Given the description of an element on the screen output the (x, y) to click on. 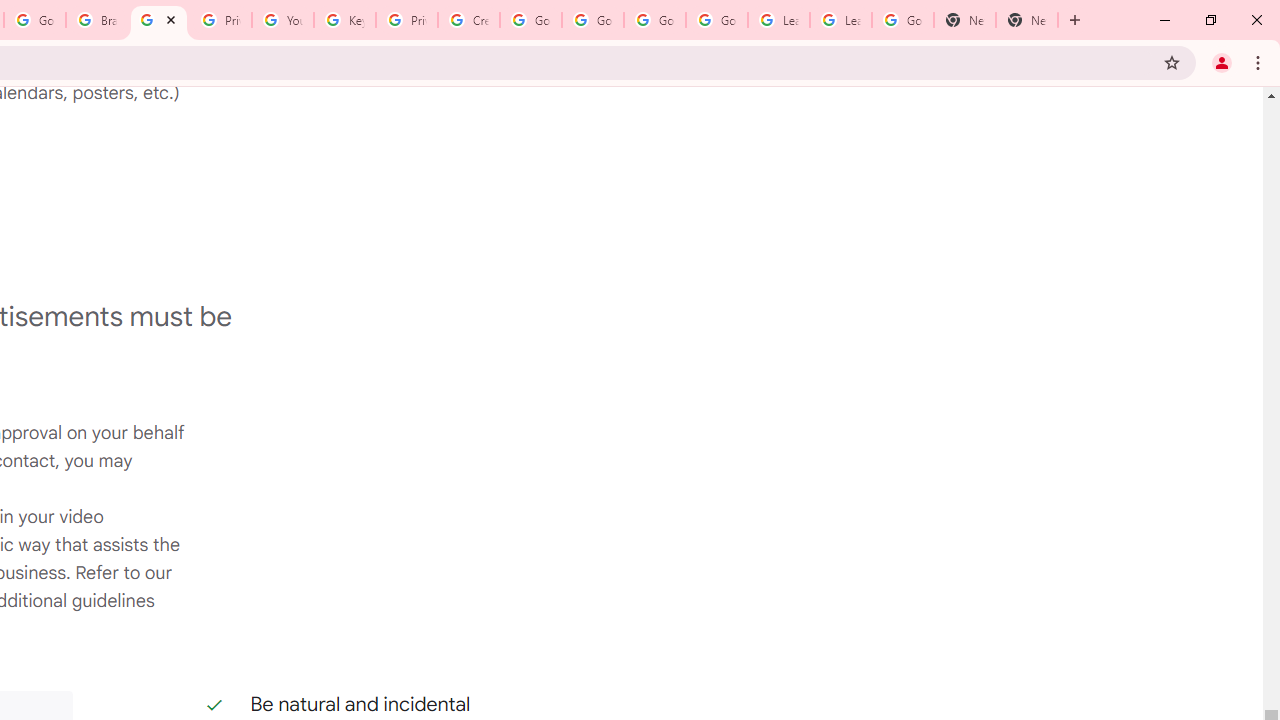
Google Account Help (530, 20)
